Given the description of an element on the screen output the (x, y) to click on. 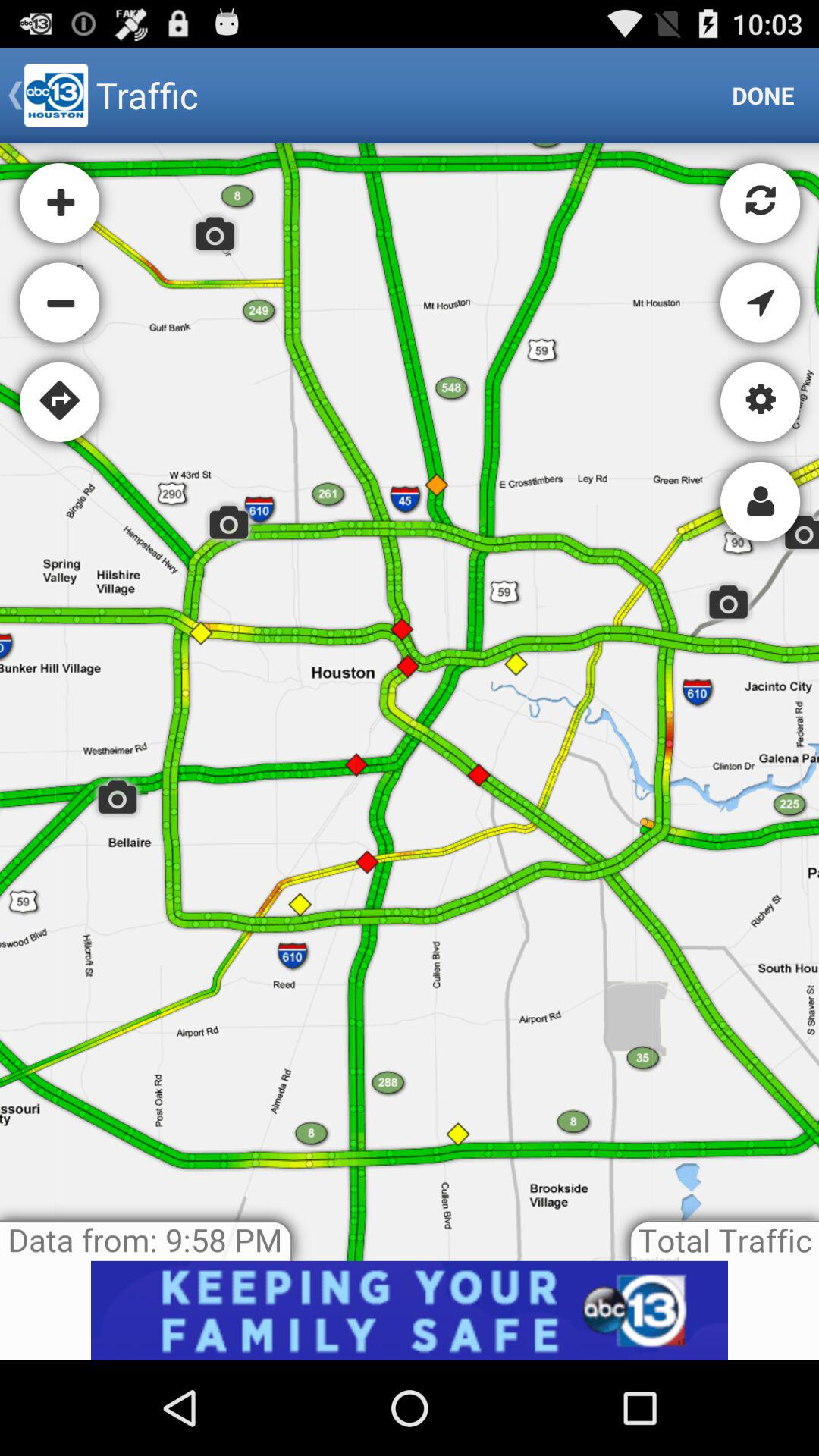
view video (409, 1310)
